Given the description of an element on the screen output the (x, y) to click on. 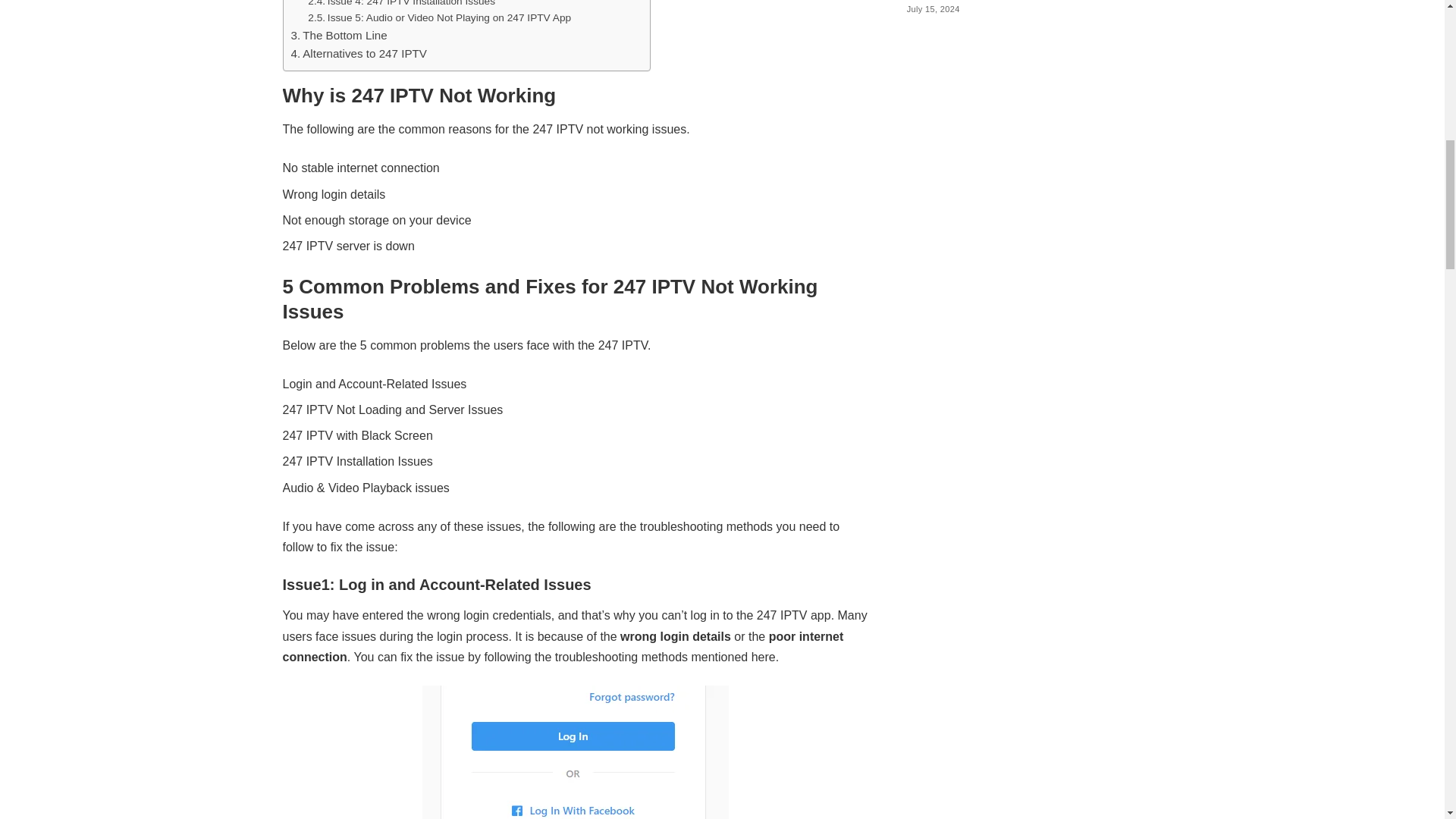
The Bottom Line (339, 35)
The Bottom Line (339, 35)
247 IPTV with Black Screen (357, 435)
247 IPTV Not Loading and Server Issues (392, 409)
Issue 4: 247 IPTV Installation Issues (401, 4)
Issue 5: Audio or Video Not Playing on 247 IPTV App (438, 17)
Login and Account-Related Issues (373, 383)
Issue 5: Audio or Video Not Playing on 247 IPTV App (438, 17)
Issue 4: 247 IPTV Installation Issues (401, 4)
Alternatives to 247 IPTV (359, 54)
